Given the description of an element on the screen output the (x, y) to click on. 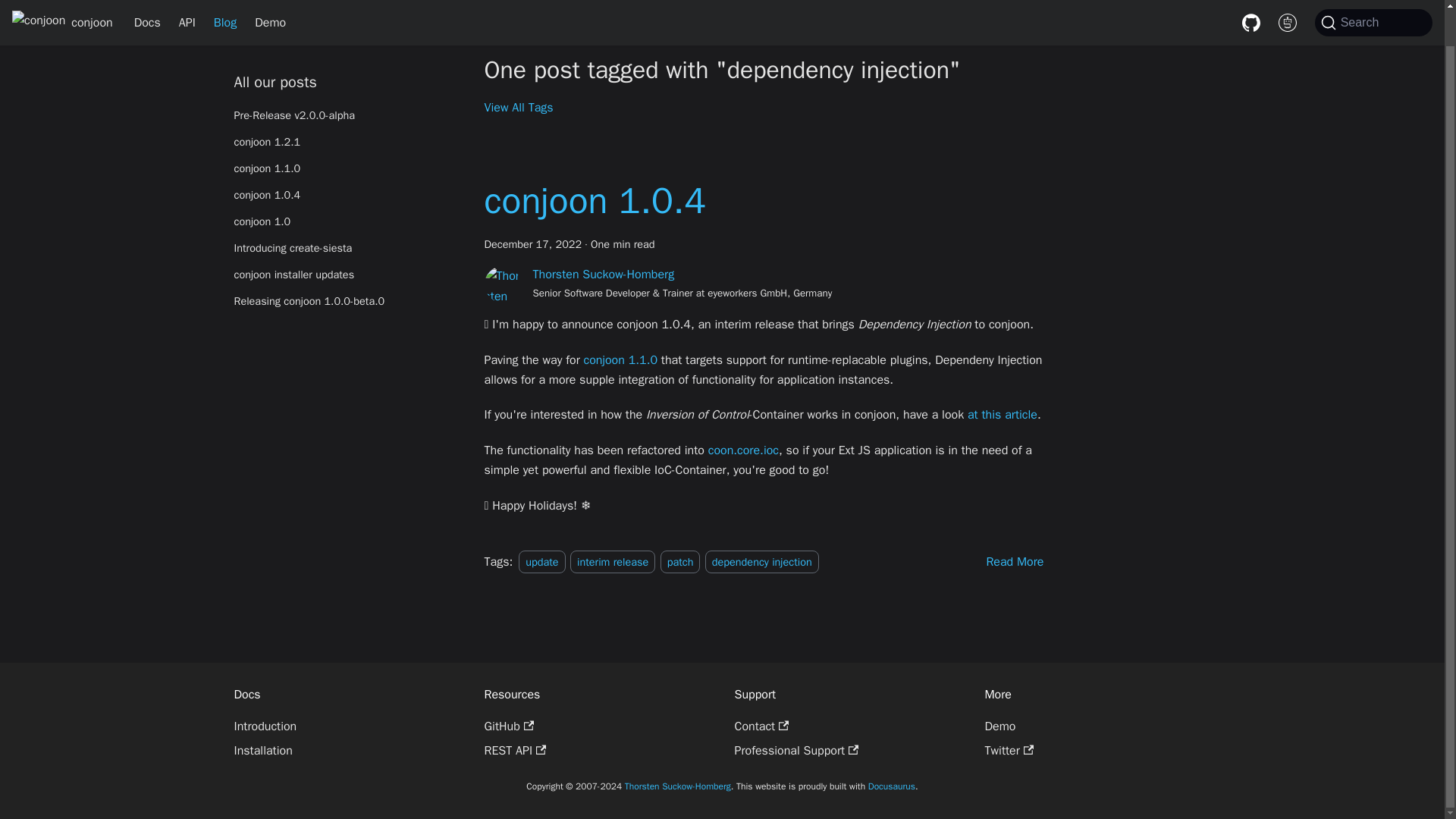
Demo (270, 10)
conjoon 1.0 (346, 208)
View All Tags (518, 107)
Docs (147, 10)
conjoon 1.0.4 (593, 200)
interim release (612, 561)
Thorsten Suckow-Homberg (603, 273)
conjoon 1.2.1 (346, 127)
REST API (514, 750)
